Given the description of an element on the screen output the (x, y) to click on. 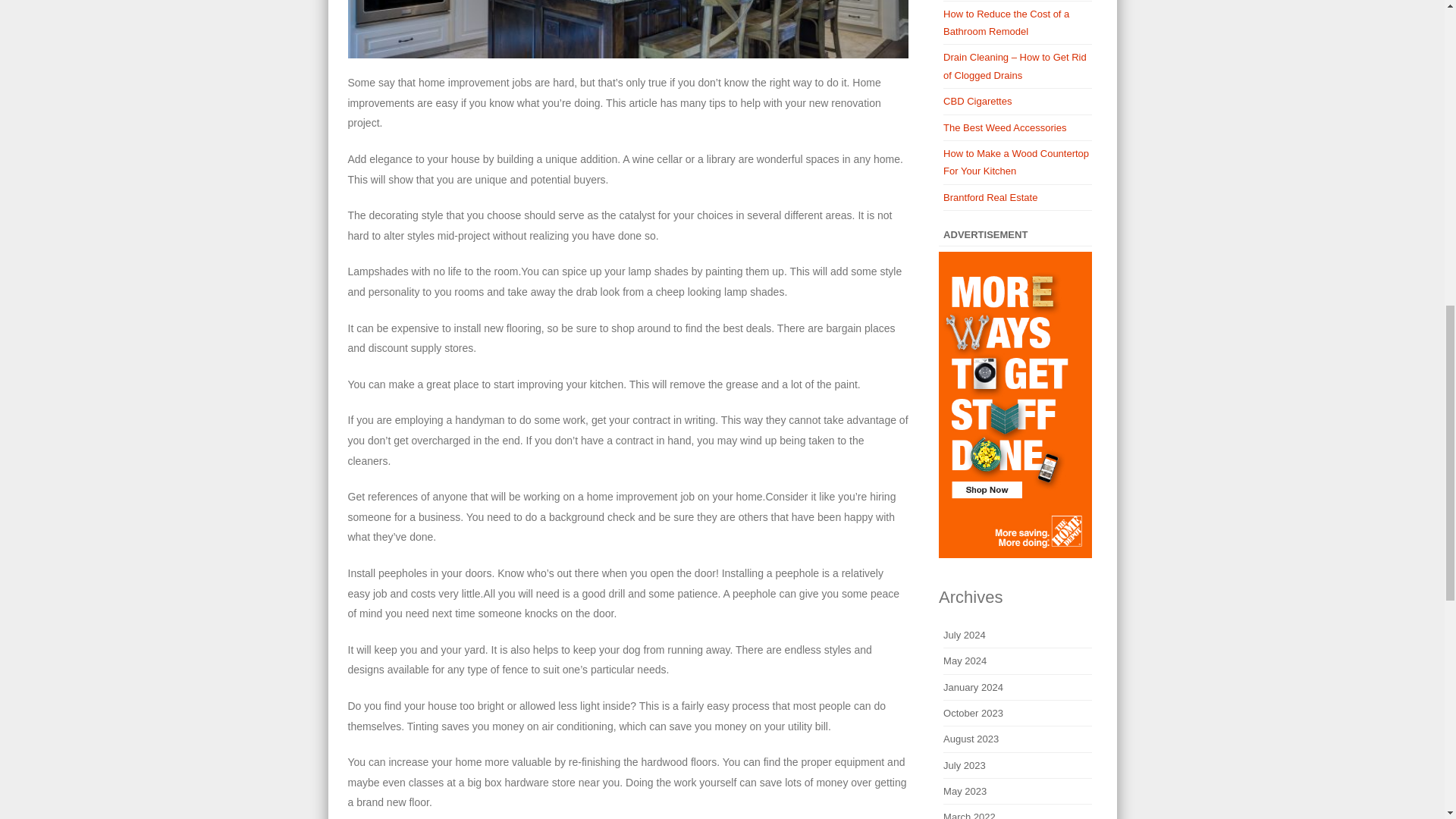
May 2023 (965, 790)
The Best Weed Accessories (1004, 127)
October 2023 (973, 713)
March 2022 (969, 815)
How to Make a Wood Countertop For Your Kitchen (1016, 162)
How to Reduce the Cost of a Bathroom Remodel (1005, 22)
August 2023 (970, 738)
January 2024 (973, 686)
July 2023 (964, 765)
Brantford Real Estate (989, 197)
July 2024 (964, 634)
CBD Cigarettes (977, 101)
May 2024 (965, 660)
